Given the description of an element on the screen output the (x, y) to click on. 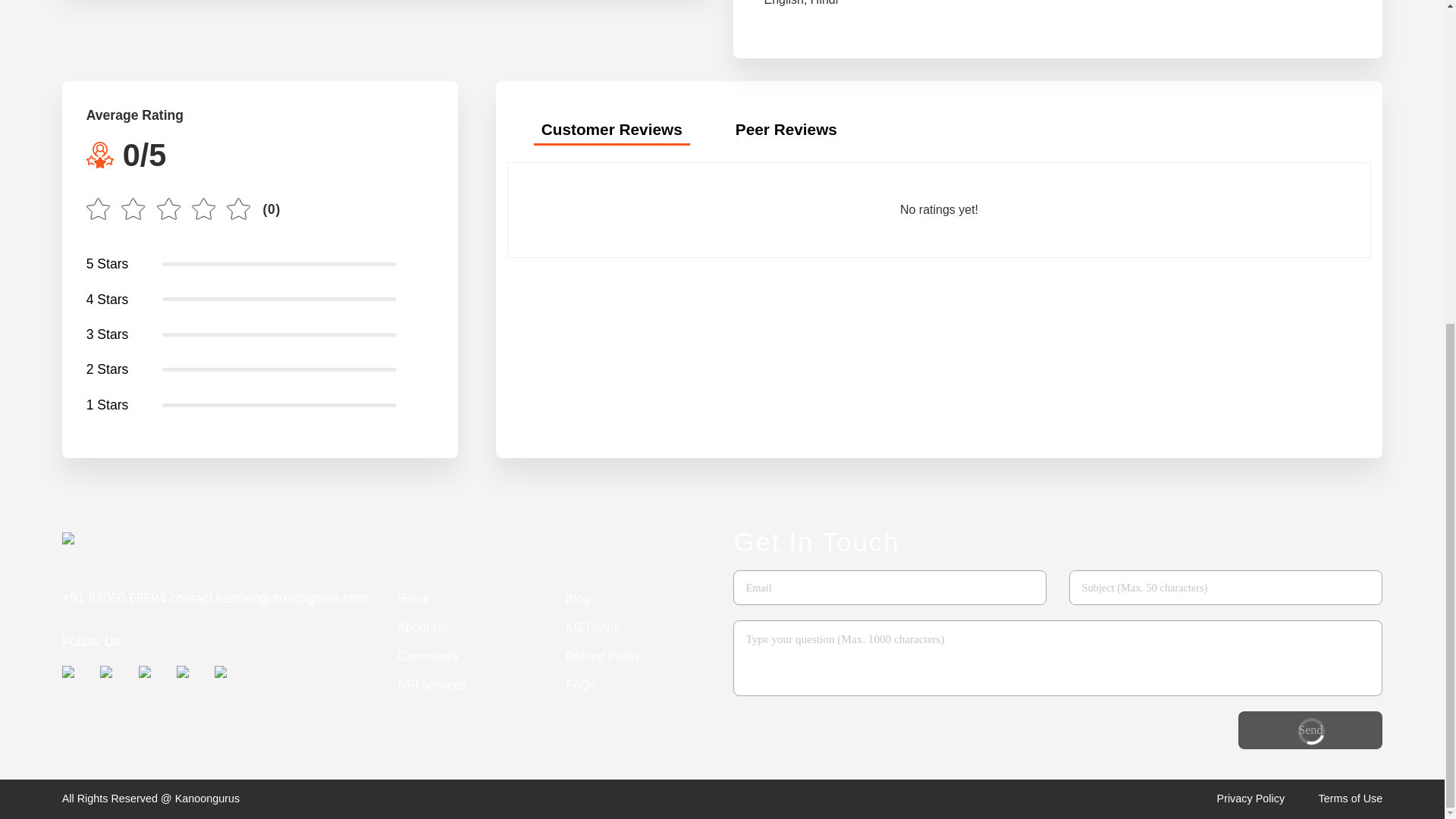
Community (428, 656)
Refund Policy (603, 656)
No ratings yet! (938, 209)
About Us (422, 627)
FAQs (580, 685)
NRI services (432, 685)
Customer Reviews (612, 131)
Peer Reviews (786, 131)
Home (413, 598)
KG Divine (593, 627)
